Given the description of an element on the screen output the (x, y) to click on. 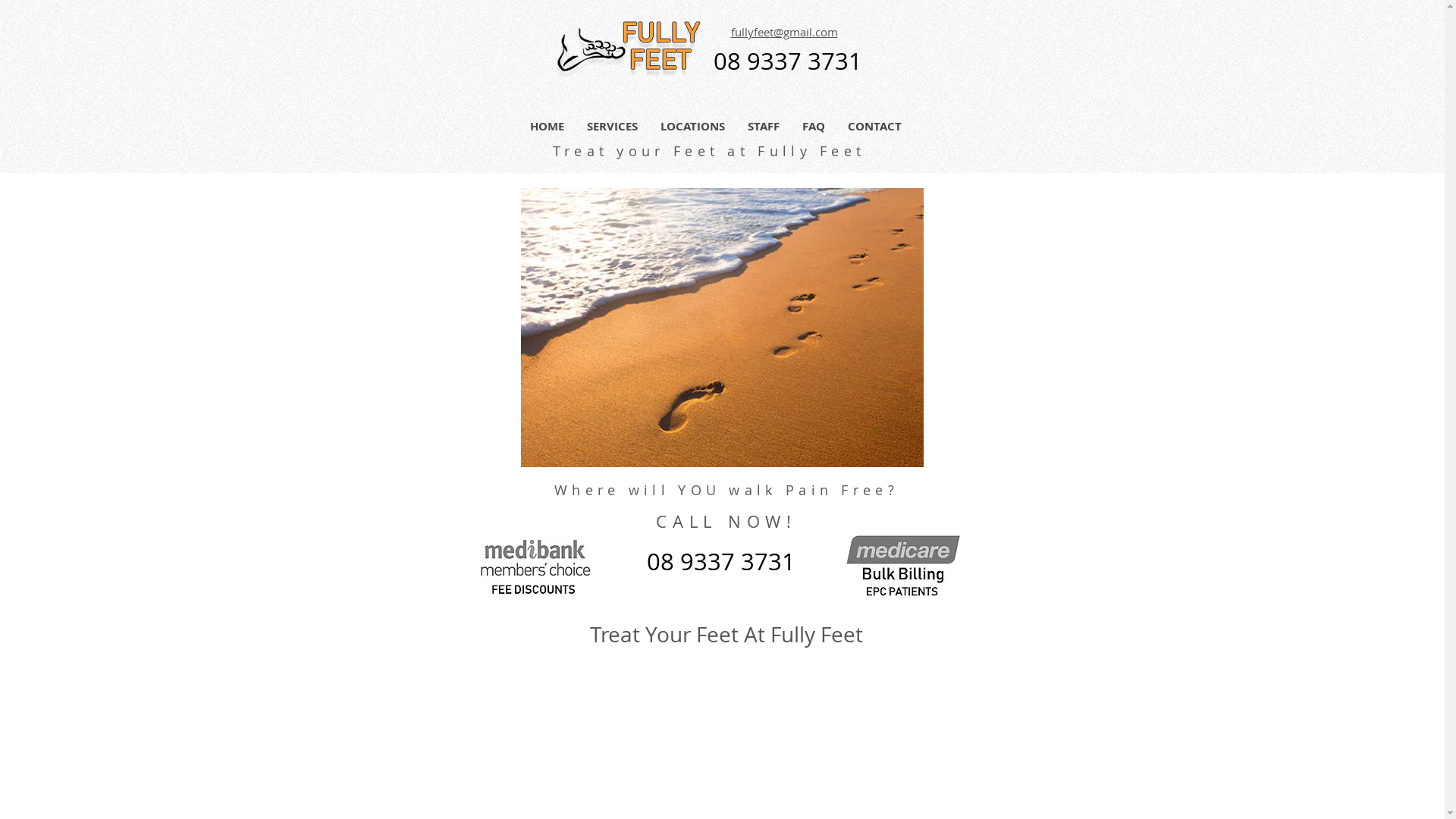
08 9337 3731 Element type: text (786, 64)
CONTACT Element type: text (873, 126)
HOME Element type: text (546, 126)
SERVICES Element type: text (611, 126)
STAFF Element type: text (762, 126)
Where will YOU walk Pain Free? Element type: text (726, 489)
fullyfeet@gmail.com Element type: text (784, 33)
CALL NOW! Element type: text (725, 521)
FAQ Element type: text (812, 126)
LOCATIONS Element type: text (692, 126)
08 9337 3731 Element type: text (720, 564)
